Given the description of an element on the screen output the (x, y) to click on. 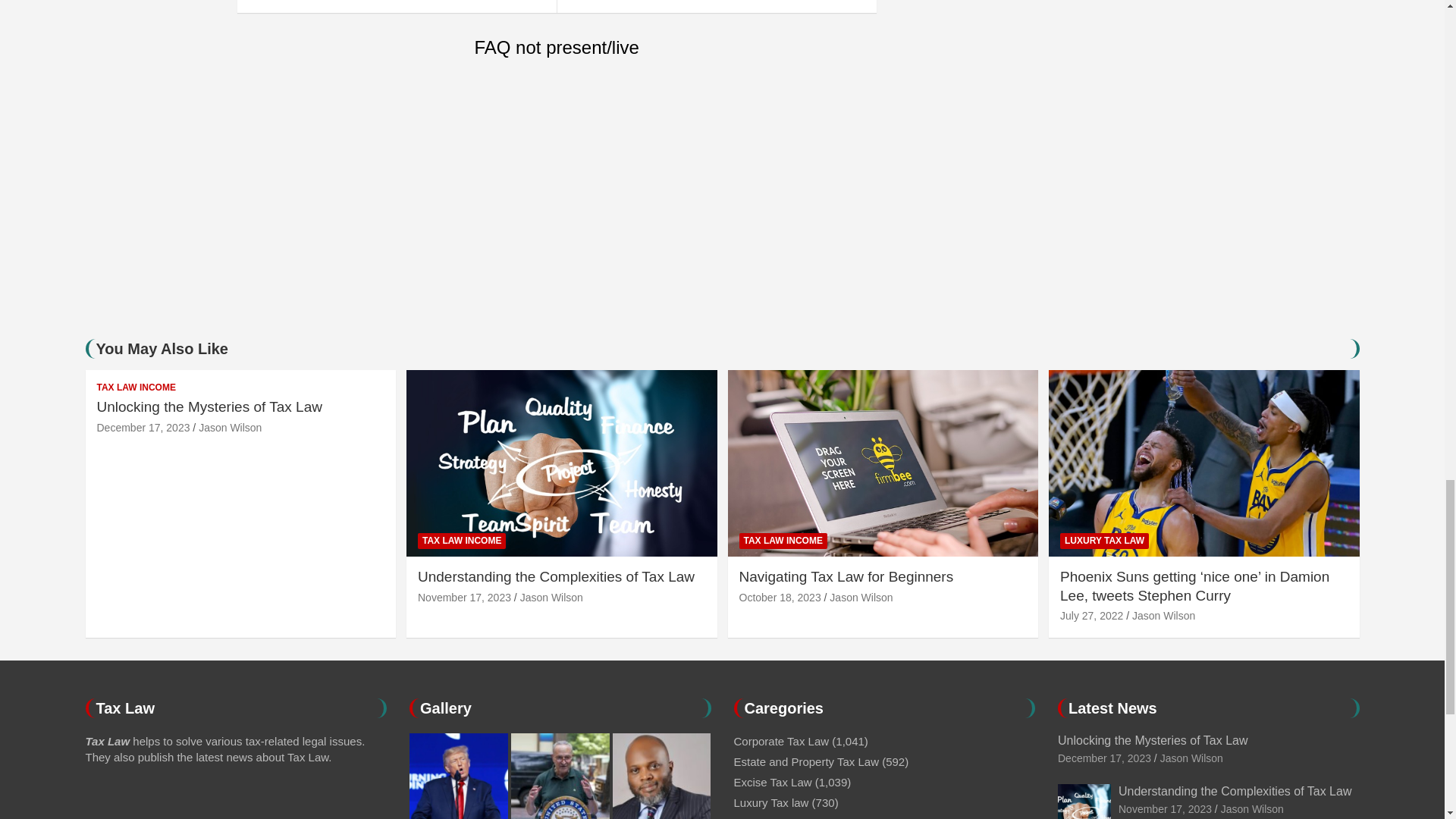
Unlocking the Mysteries of Tax Law (143, 427)
Unlocking the Mysteries of Tax Law (1104, 758)
Understanding the Complexities of Tax Law (1164, 808)
Navigating Tax Law for Beginners (779, 597)
Understanding the Complexities of Tax Law (464, 597)
January 2021 Income Evaluation Report accessible (716, 6)
